Given the description of an element on the screen output the (x, y) to click on. 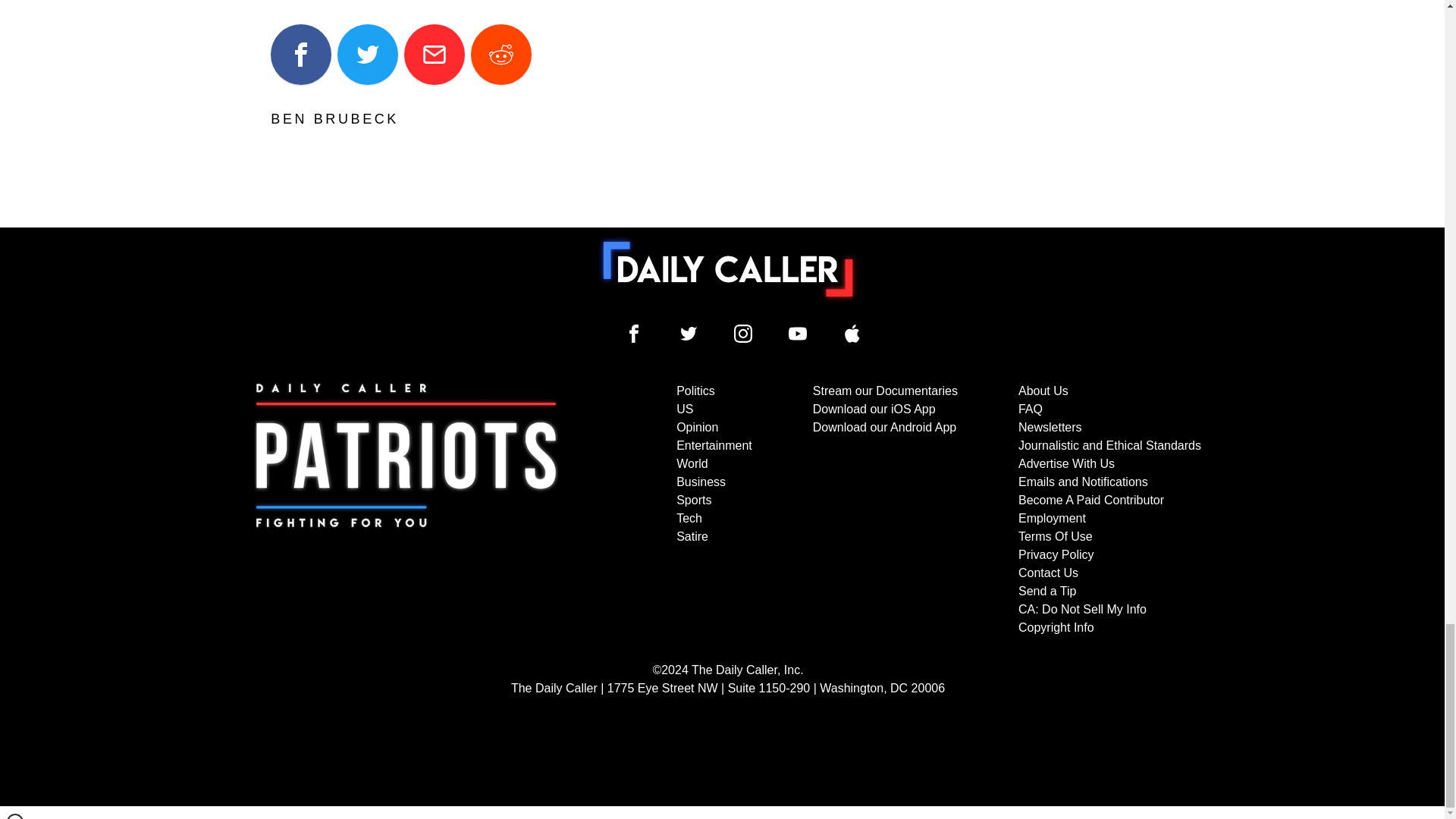
Daily Caller Instagram (742, 333)
Subscribe to The Daily Caller (405, 509)
Daily Caller Facebook (633, 333)
Daily Caller YouTube (797, 333)
To home page (727, 268)
Daily Caller YouTube (852, 333)
Daily Caller Twitter (688, 333)
